Given the description of an element on the screen output the (x, y) to click on. 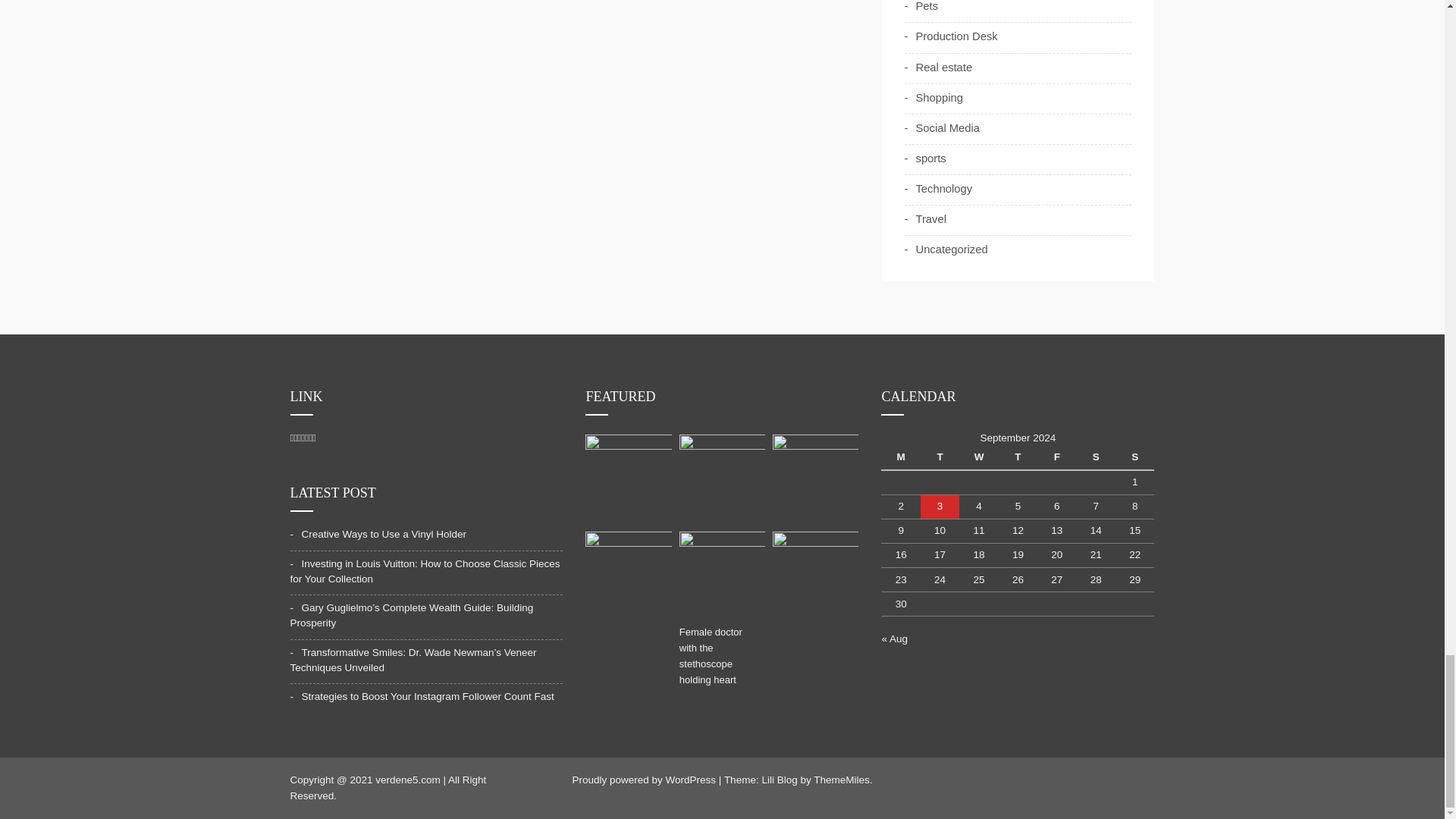
Saturday (1096, 457)
Monday (900, 457)
Sunday (1134, 457)
Tuesday (939, 457)
Wednesday (978, 457)
Friday (1055, 457)
Thursday (1017, 457)
